Given the description of an element on the screen output the (x, y) to click on. 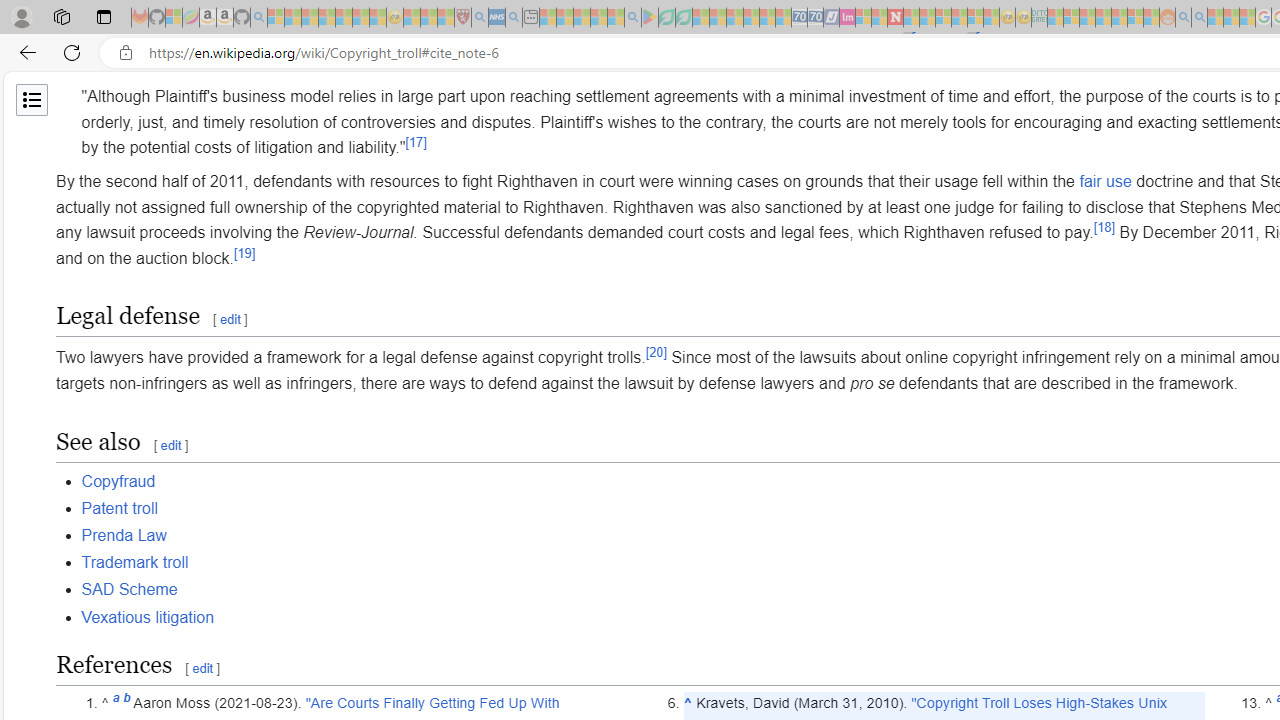
Trademark troll (134, 562)
Expert Portfolios - Sleeping (1103, 17)
Prenda Law (123, 536)
Cheap Car Rentals - Save70.com - Sleeping (799, 17)
Cheap Hotels - Save70.com - Sleeping (815, 17)
NCL Adult Asthma Inhaler Choice Guideline - Sleeping (497, 17)
New tab - Sleeping (530, 17)
utah sues federal government - Search - Sleeping (513, 17)
MSNBC - MSN - Sleeping (1055, 17)
The Weather Channel - MSN - Sleeping (309, 17)
